Given the description of an element on the screen output the (x, y) to click on. 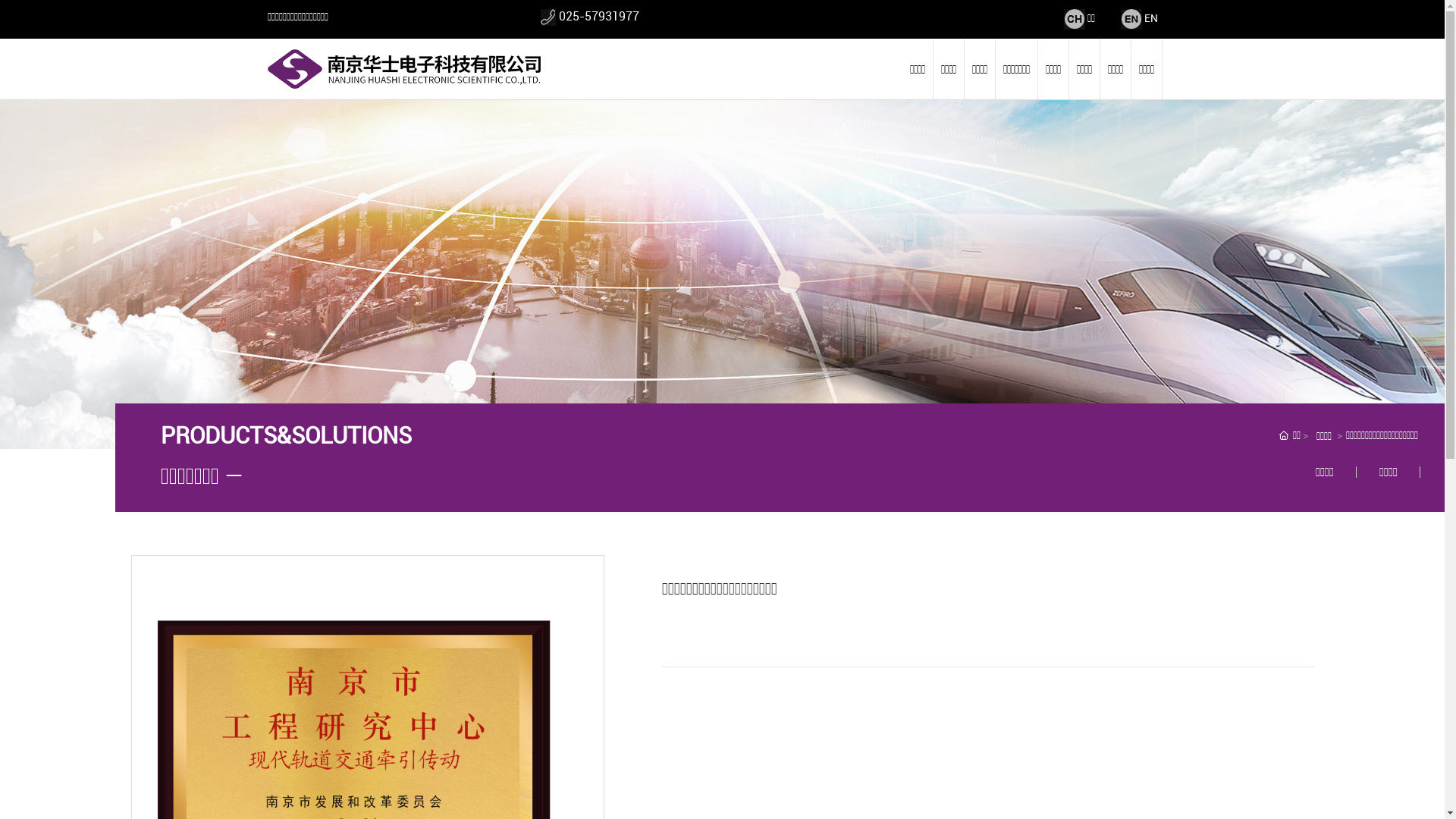
EN Element type: text (1150, 17)
